Given the description of an element on the screen output the (x, y) to click on. 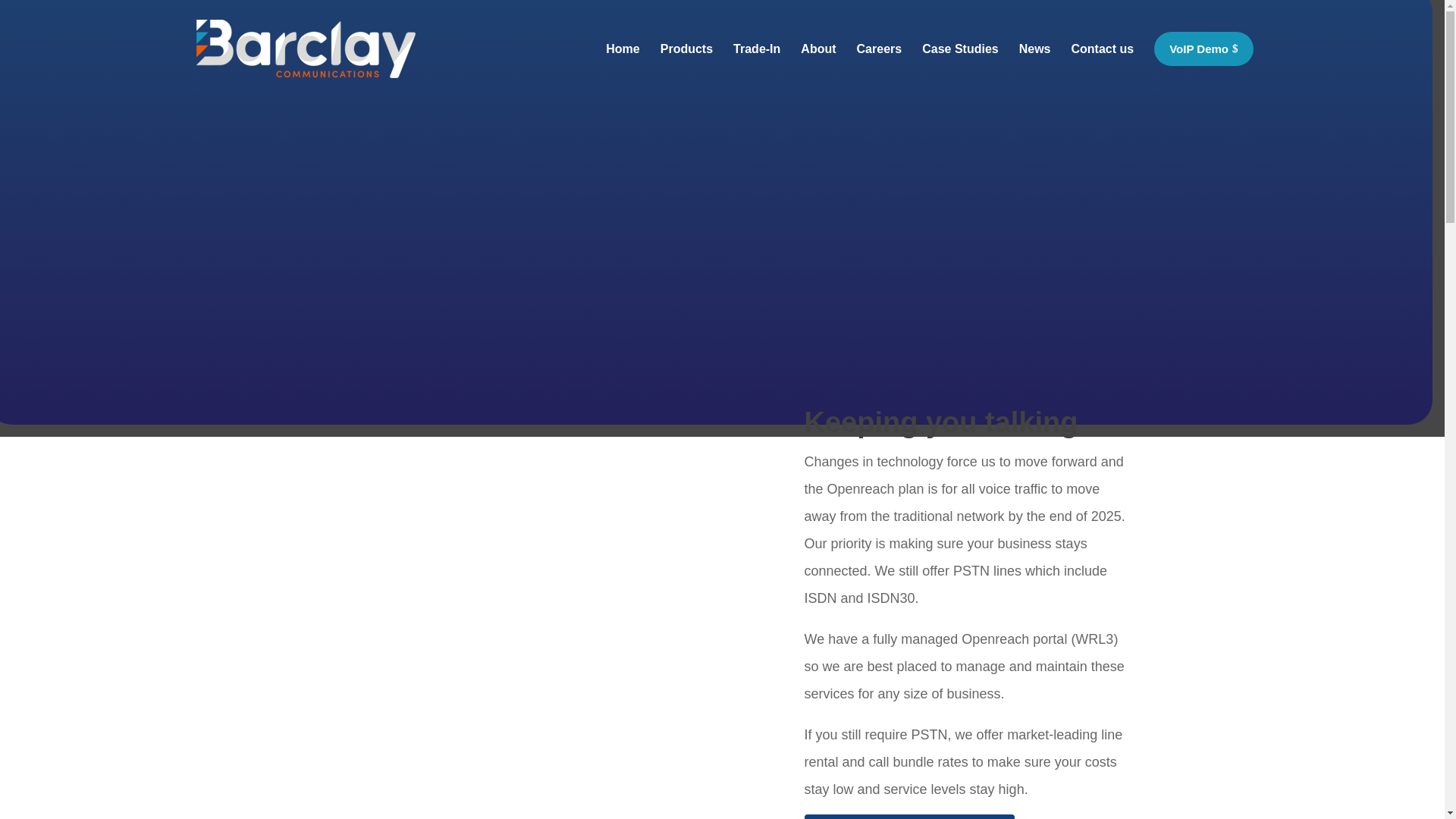
REQUEST A QUOTE (908, 816)
Case Studies (959, 67)
VoIP Demo (1203, 48)
Contact us (1102, 67)
